Given the description of an element on the screen output the (x, y) to click on. 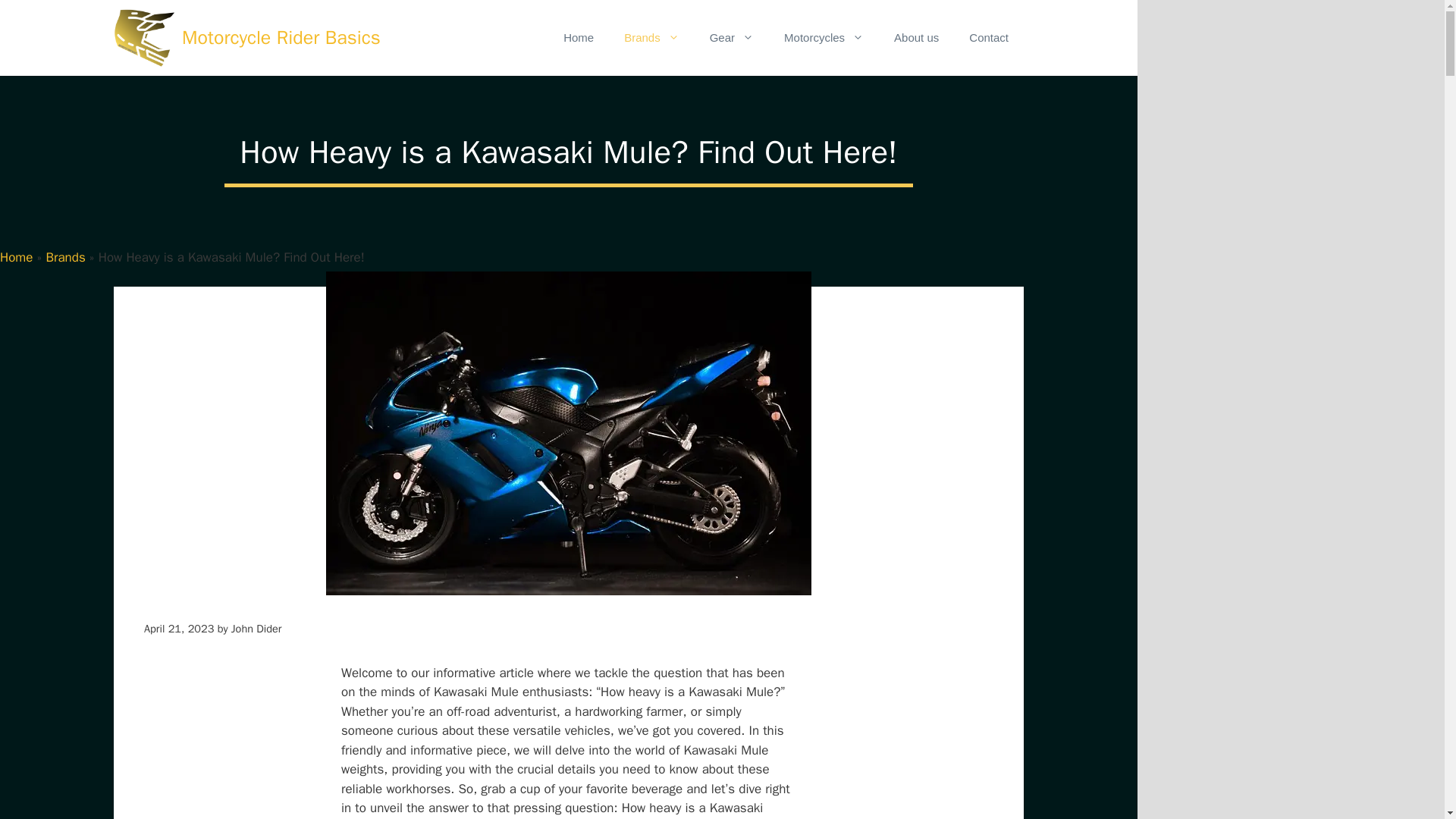
Contact (988, 37)
Motorcycles (823, 37)
About us (916, 37)
Home (16, 257)
Motorcycle Rider Basics (281, 38)
John Dider (256, 628)
Gear (731, 37)
Brands (64, 257)
Home (578, 37)
Brands (651, 37)
View all posts by John Dider (256, 628)
